Given the description of an element on the screen output the (x, y) to click on. 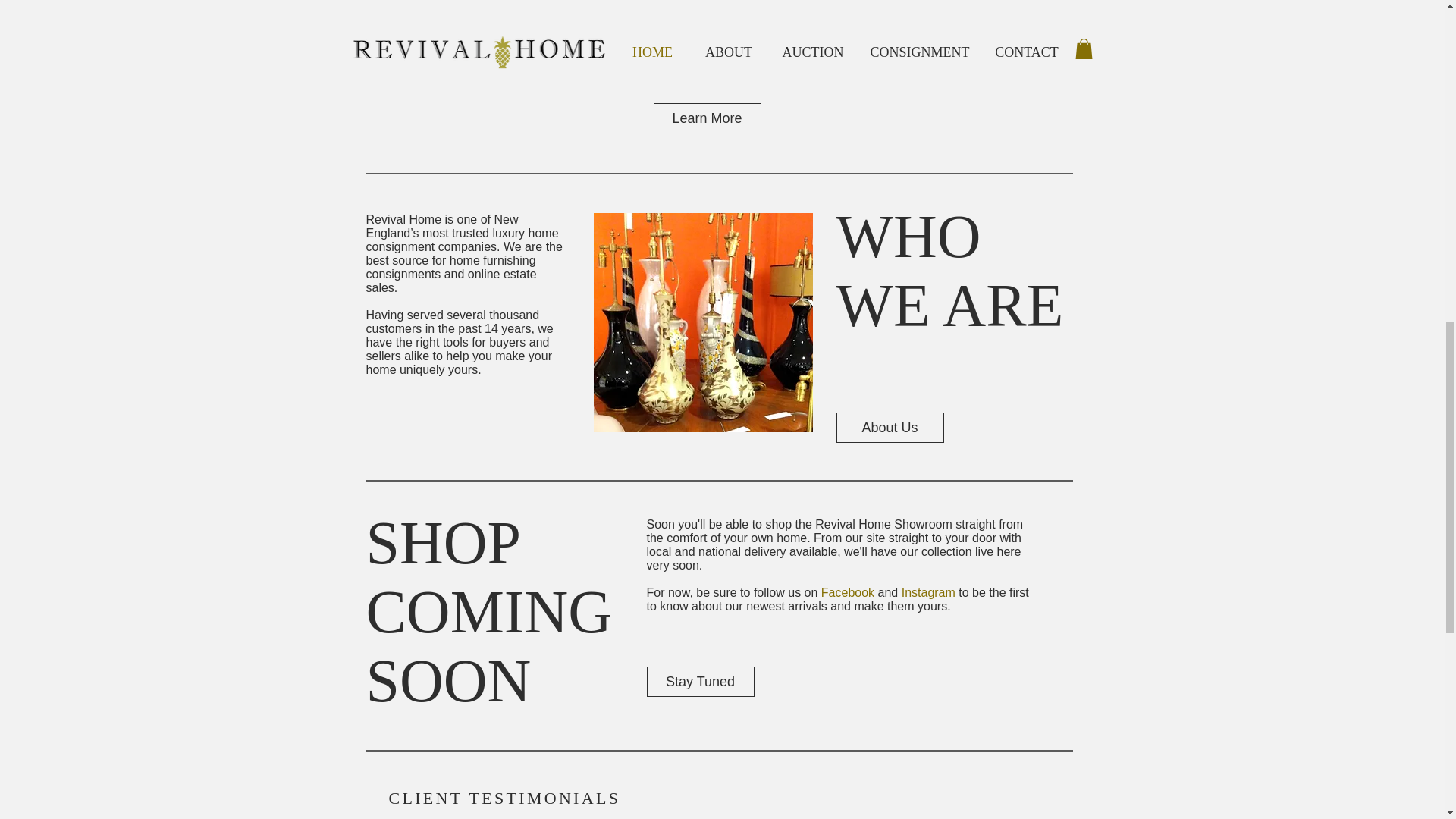
About Us (889, 427)
Learn More (707, 118)
Instagram (928, 592)
Facebook (848, 592)
Stay Tuned (700, 681)
